Given the description of an element on the screen output the (x, y) to click on. 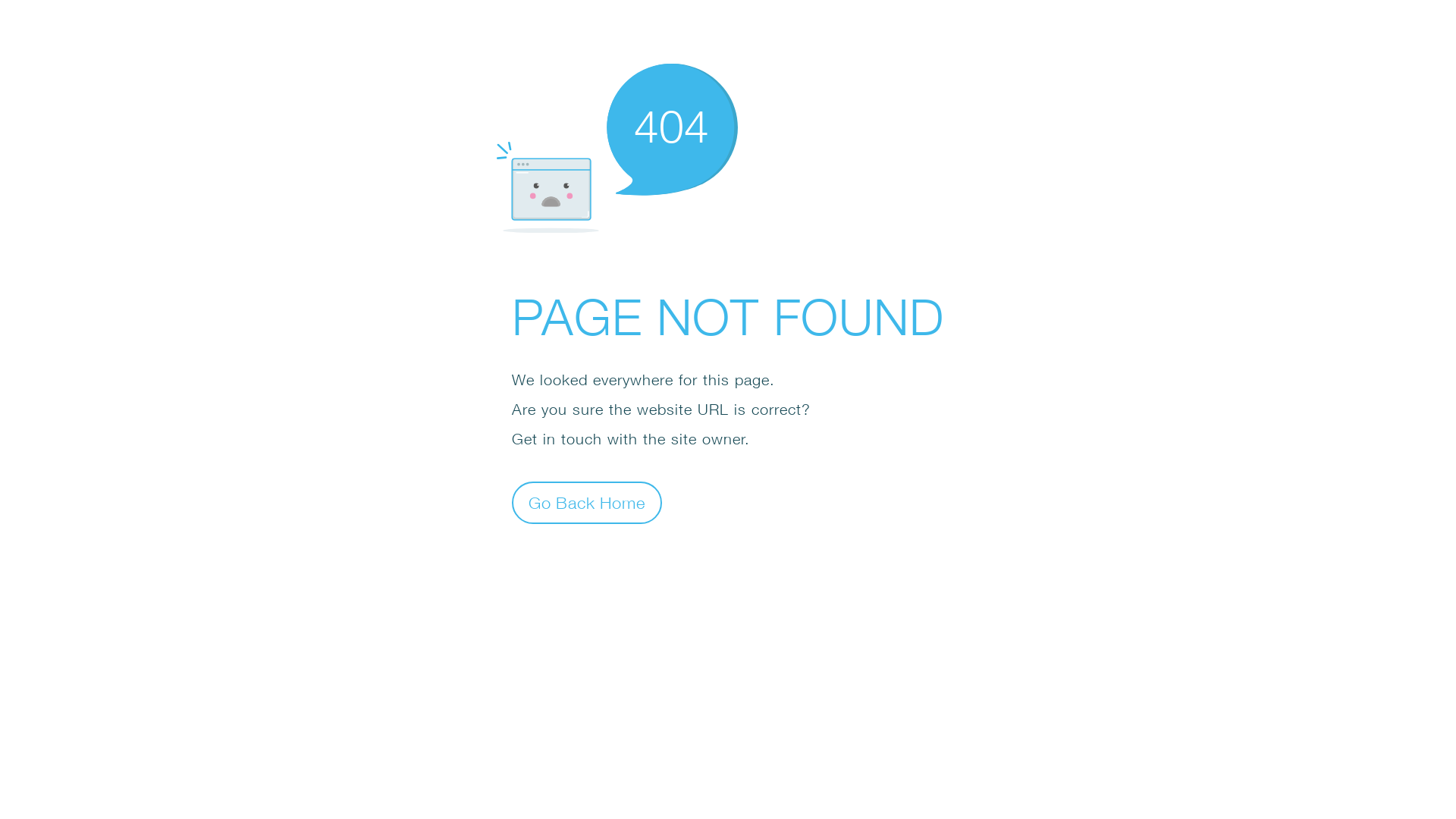
Go Back Home Element type: text (586, 502)
